Given the description of an element on the screen output the (x, y) to click on. 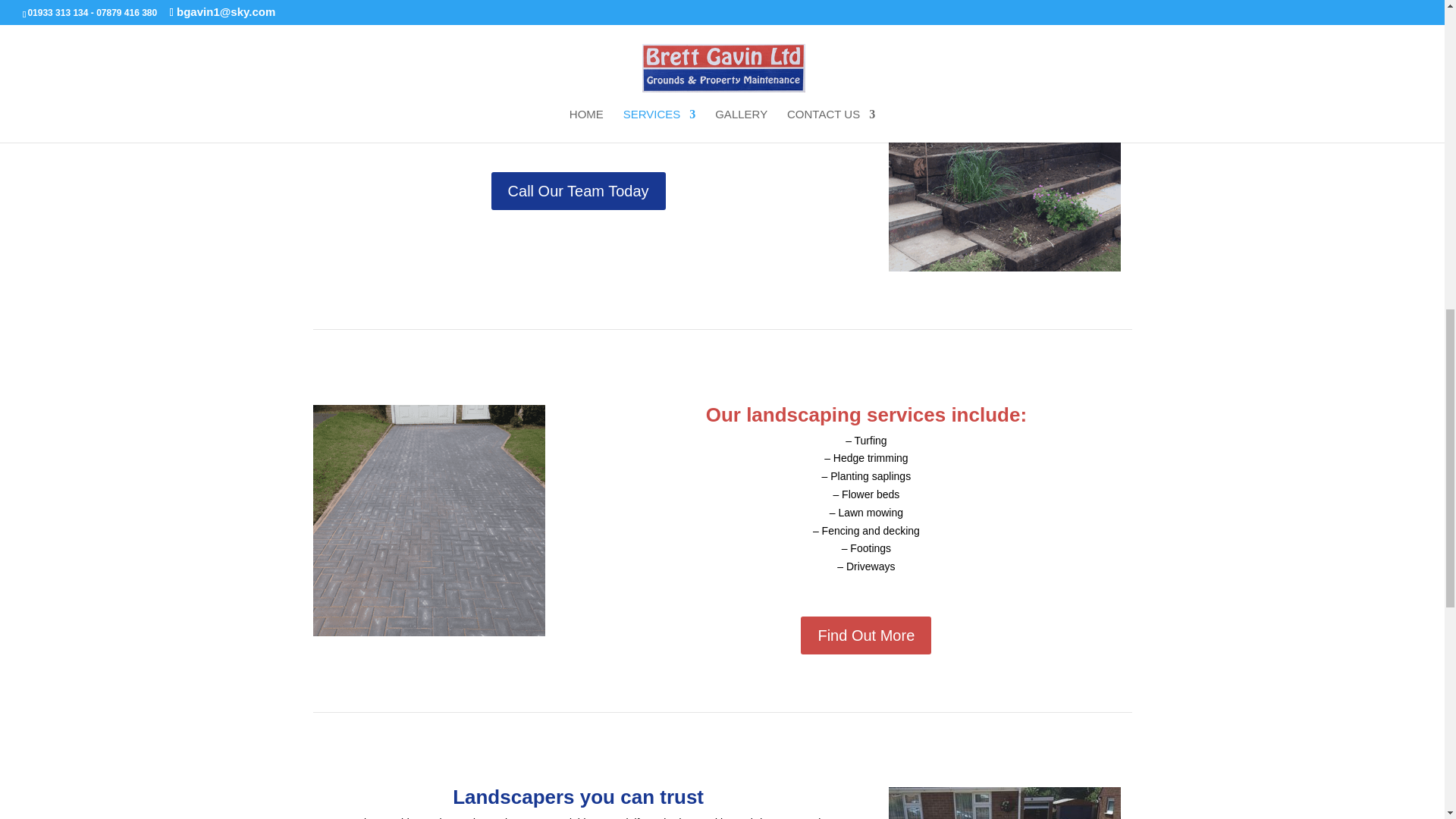
Find Out More (865, 635)
Call Our Team Today (578, 190)
